Given the description of an element on the screen output the (x, y) to click on. 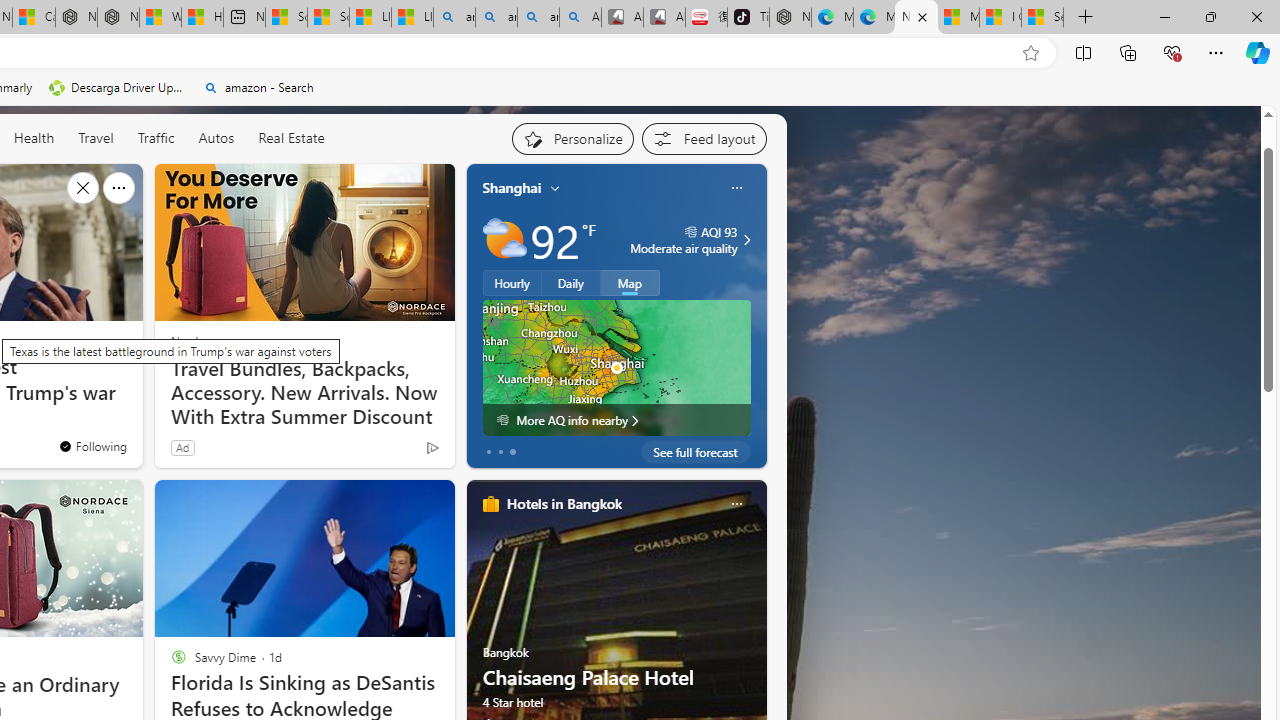
Hide this story (82, 187)
tab-2 (511, 451)
Larger map  (616, 368)
You're following The Weather Channel (390, 452)
Partly sunny (504, 240)
My location (555, 187)
Travel (95, 137)
More AQ info nearby (616, 419)
Partly sunny (504, 240)
Traffic (155, 137)
Real Estate (291, 137)
